Given the description of an element on the screen output the (x, y) to click on. 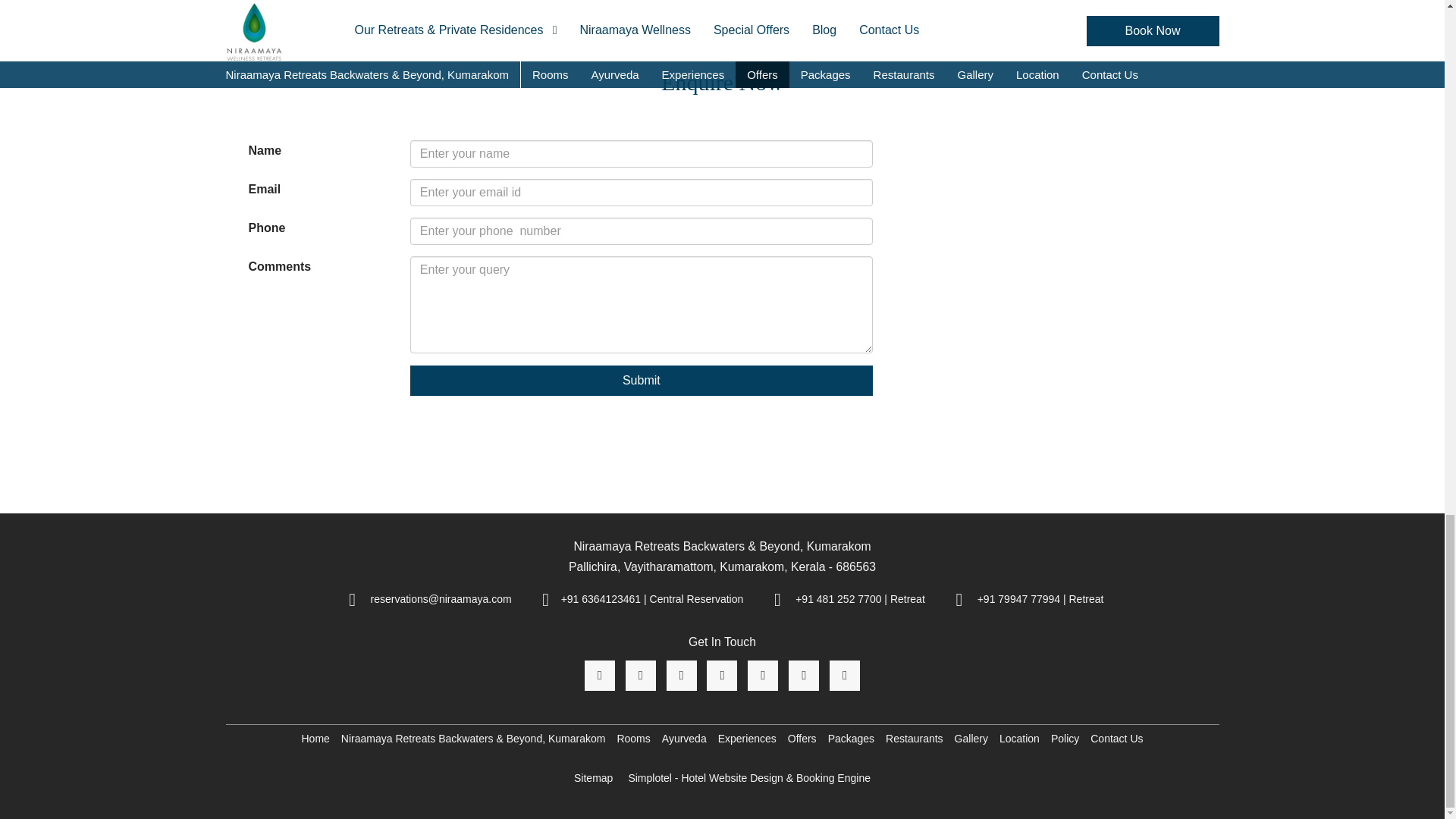
Submit (641, 380)
click here for sitemap (592, 777)
Book Now (721, 12)
